Given the description of an element on the screen output the (x, y) to click on. 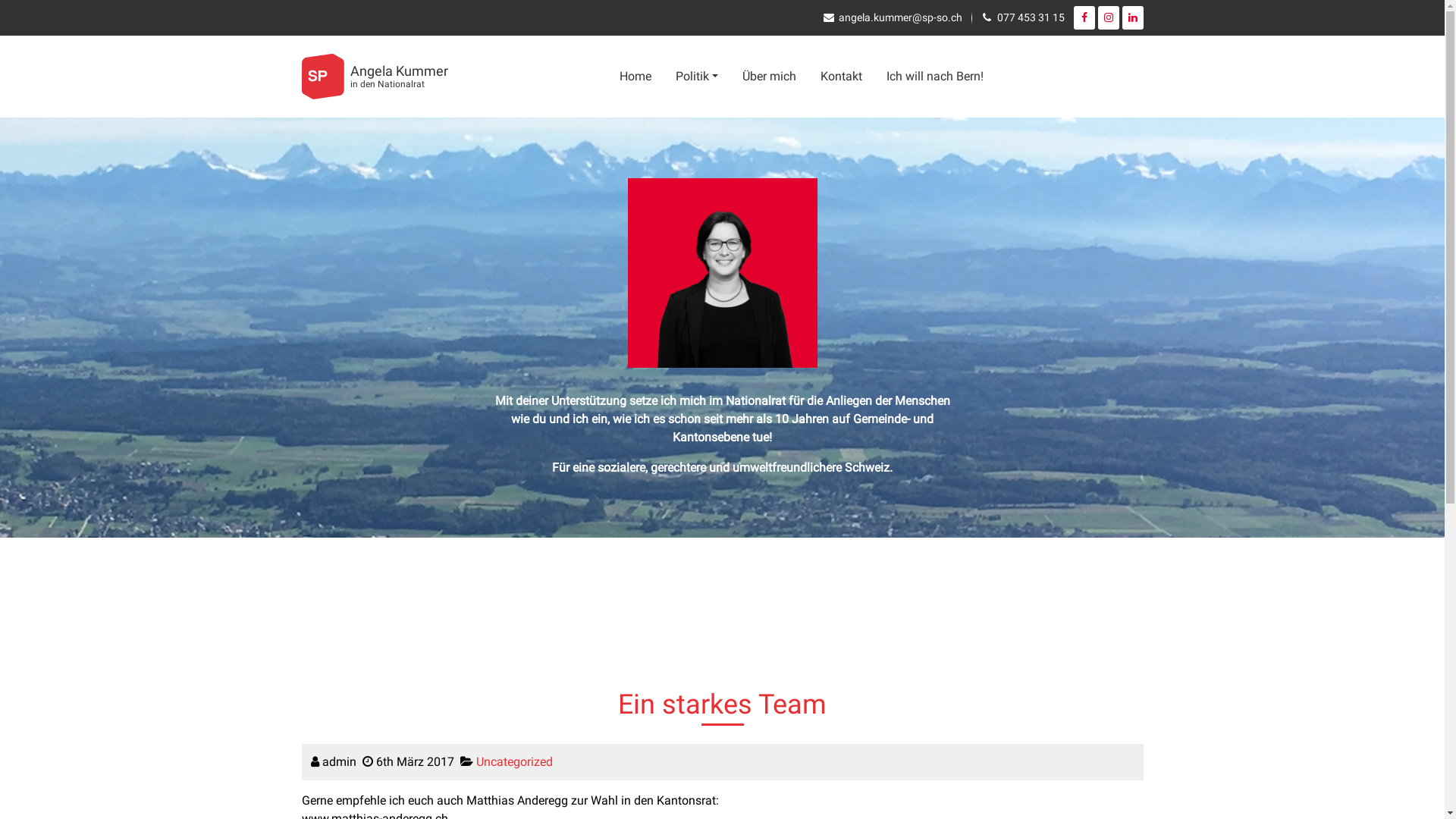
Uncategorized Element type: text (514, 761)
angela.kummer@sp-so.ch Element type: text (900, 17)
077 453 31 15 Element type: text (1029, 17)
Angela Kummer
in den Nationalrat Element type: text (381, 76)
Politik Element type: text (696, 76)
Home Element type: text (635, 76)
Ich will nach Bern! Element type: text (934, 76)
Kontakt Element type: text (841, 76)
